Given the description of an element on the screen output the (x, y) to click on. 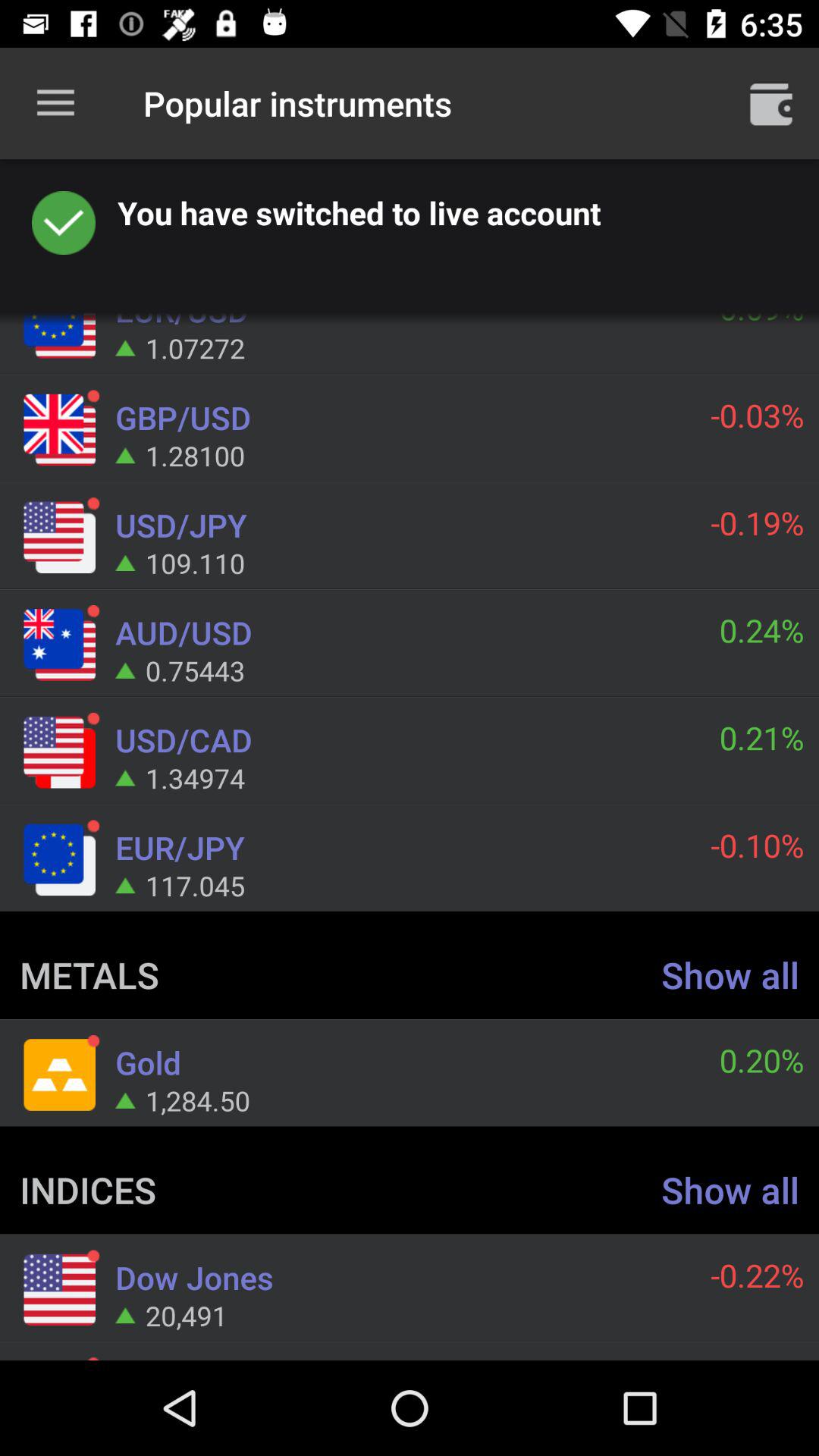
turn off the item above the currencies (55, 103)
